Given the description of an element on the screen output the (x, y) to click on. 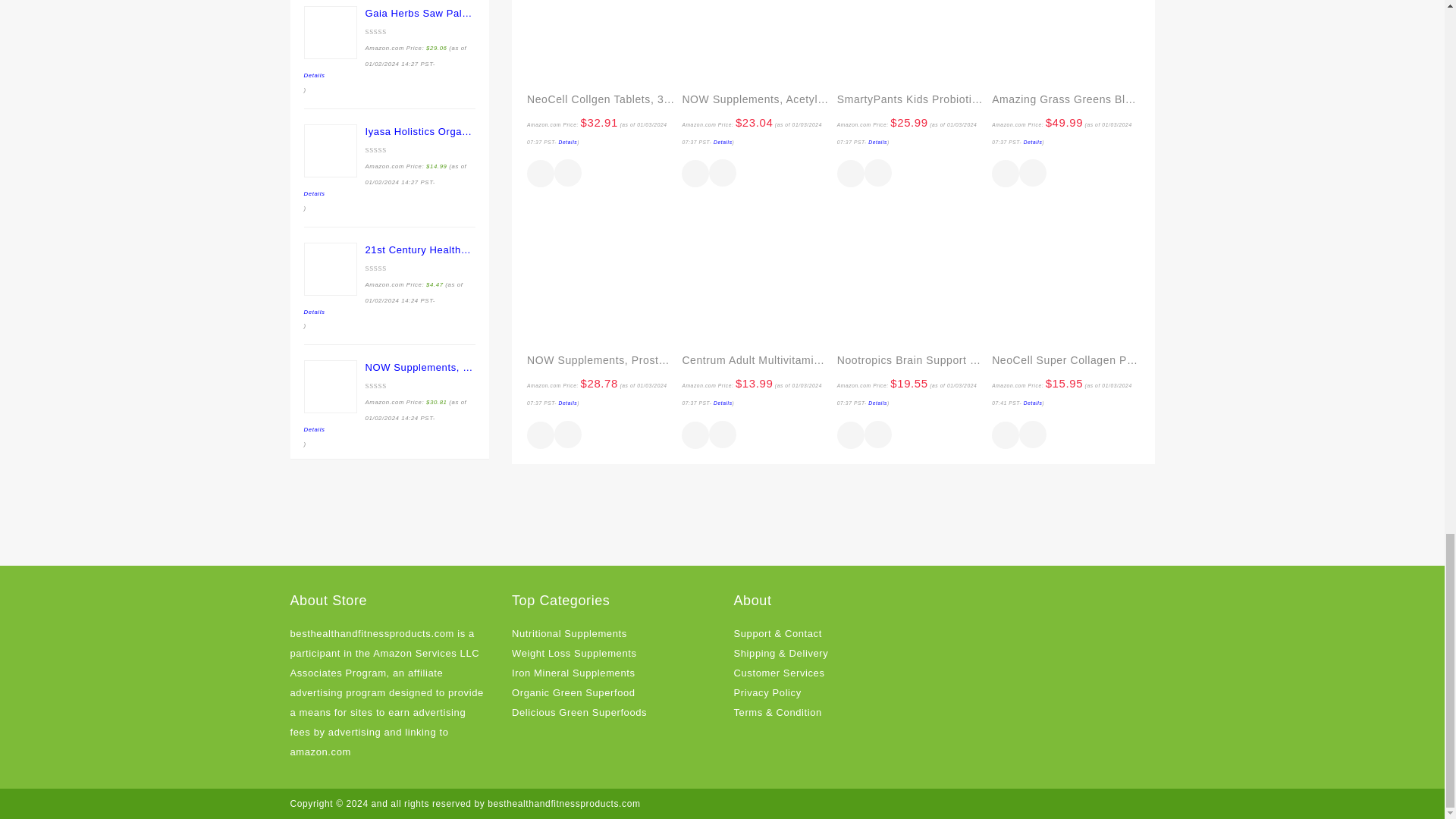
NeoCell Collgen Tablets, 360 Count (600, 100)
BUY PRODUCT (540, 173)
Details (568, 141)
